Given the description of an element on the screen output the (x, y) to click on. 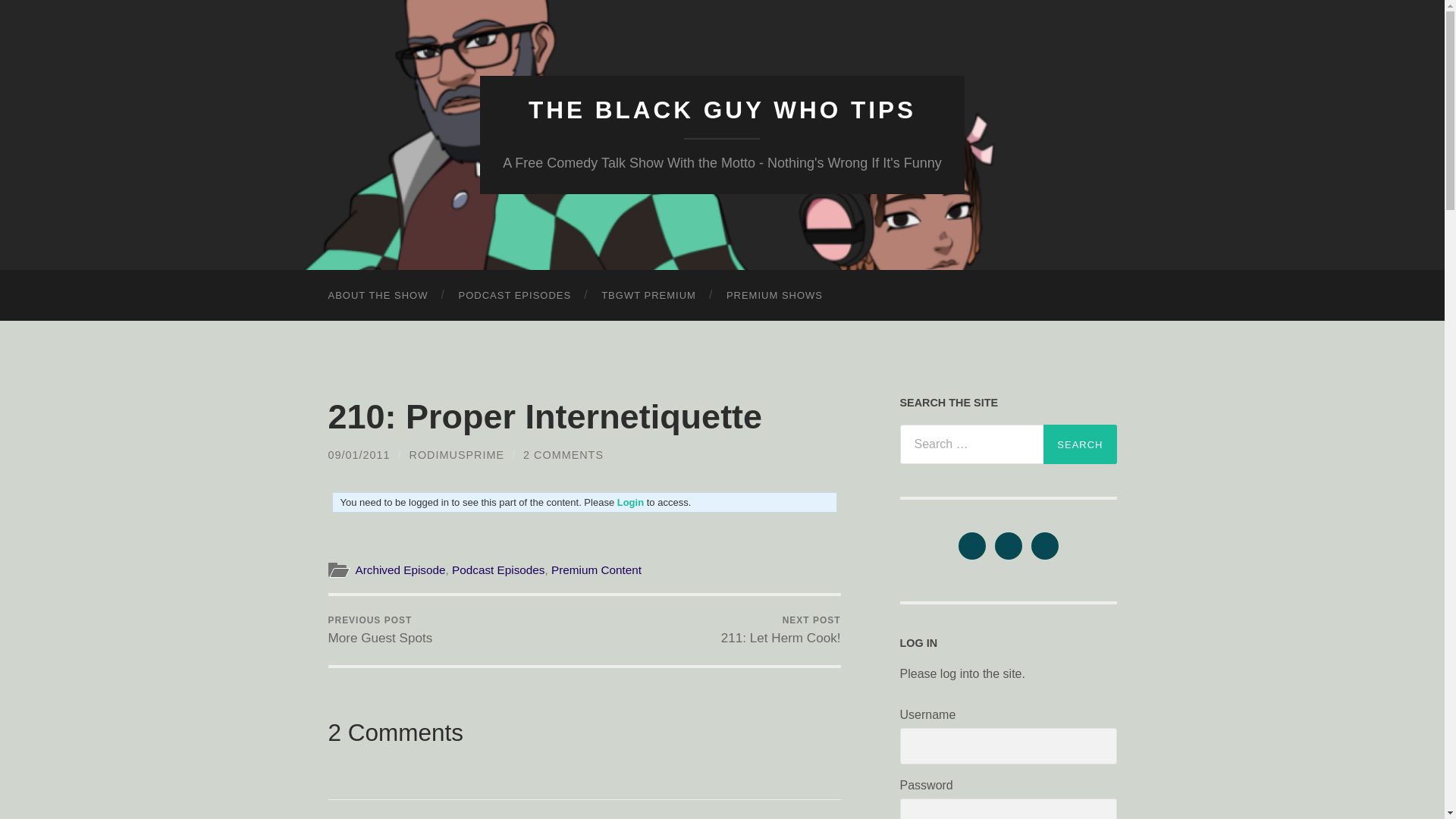
Search (1079, 444)
Archived Episode (400, 569)
ABOUT THE SHOW (377, 295)
THE BLACK GUY WHO TIPS (379, 630)
Premium Content (721, 109)
Podcast Episodes (596, 569)
PODCAST EPISODES (497, 569)
TBGWT PREMIUM (514, 295)
RODIMUSPRIME (648, 295)
PREMIUM SHOWS (457, 454)
Search (774, 295)
Search (1079, 444)
2 COMMENTS (780, 630)
